Given the description of an element on the screen output the (x, y) to click on. 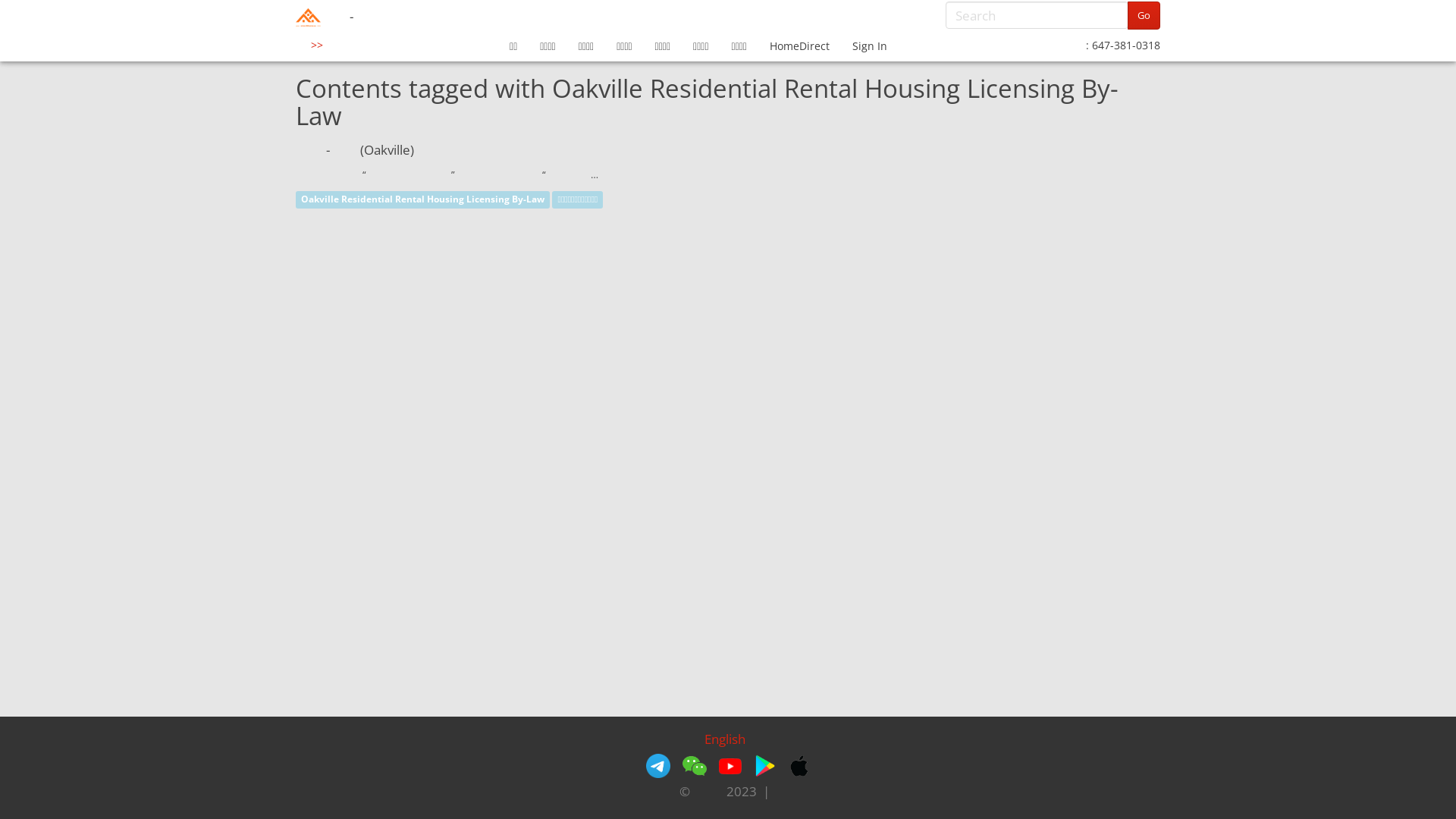
HomeDirect Element type: text (799, 46)
Go Element type: text (1143, 15)
English Element type: text (724, 738)
Sign In Element type: text (869, 46)
Oakville Residential Rental Housing Licensing By-Law Element type: text (422, 199)
